Given the description of an element on the screen output the (x, y) to click on. 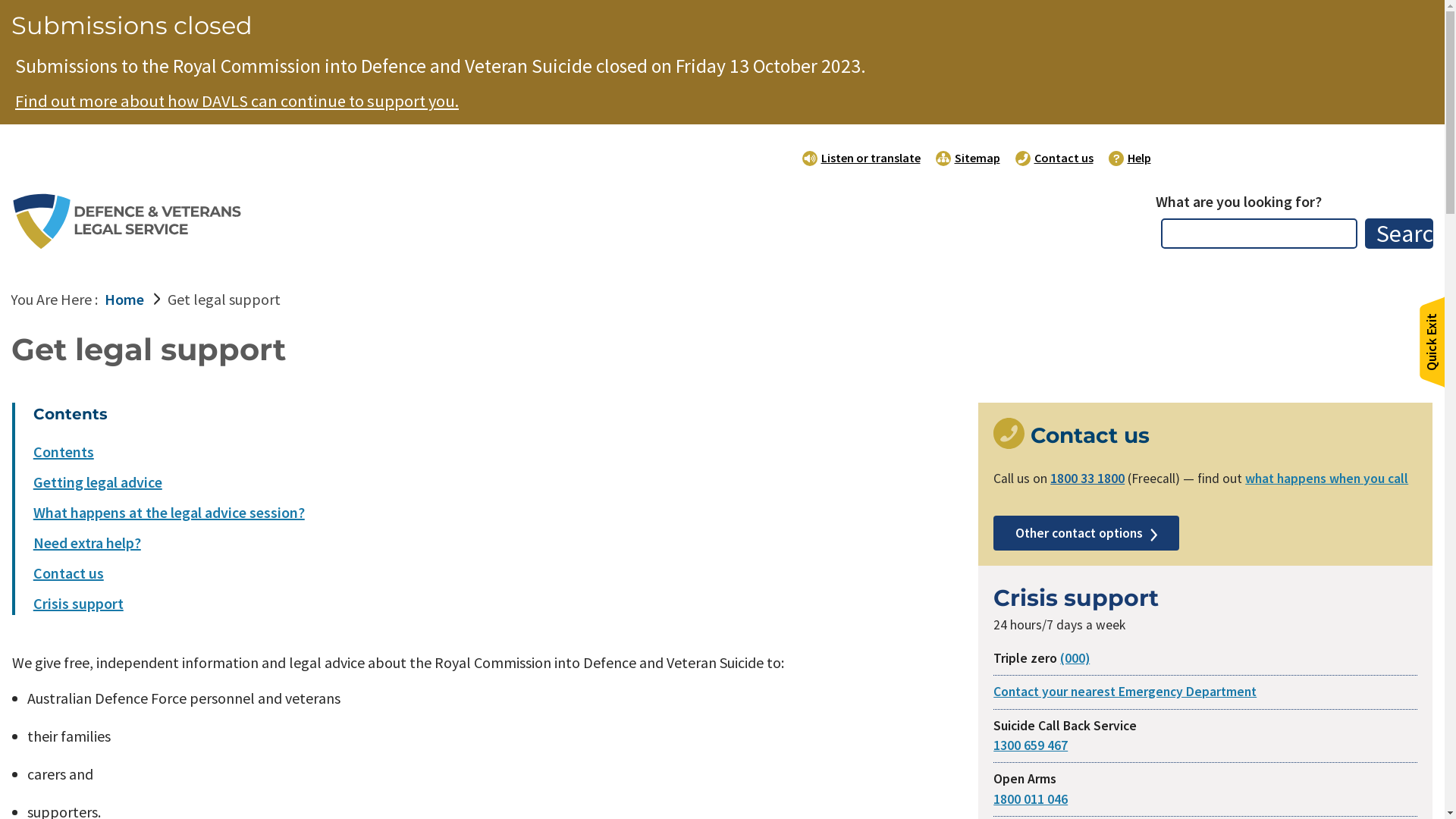
(000) Element type: text (1074, 657)
What happens at the legal advice session? Element type: text (168, 511)
Search Element type: text (1399, 233)
Sitemap Element type: text (967, 157)
Find out more about how DAVLS can continue to support you. Element type: text (236, 101)
Home - Defence and Veterans Legal Service - Logo Element type: text (128, 220)
Help Element type: text (1129, 157)
Crisis support Element type: text (78, 602)
Home Element type: text (124, 298)
Contents Element type: text (63, 451)
Contact us Element type: text (1053, 157)
Need extra help? Element type: text (87, 542)
Contact your nearest Emergency Department Element type: text (1124, 691)
what happens when you call Element type: text (1326, 478)
1800 33 1800 Element type: text (1087, 478)
1300 659 467 Element type: text (1030, 745)
Other contact options Element type: text (1086, 532)
Contact us Element type: text (68, 572)
Listen or translate Element type: text (861, 157)
Getting legal advice Element type: text (97, 481)
1800 011 046 Element type: text (1030, 798)
